Given the description of an element on the screen output the (x, y) to click on. 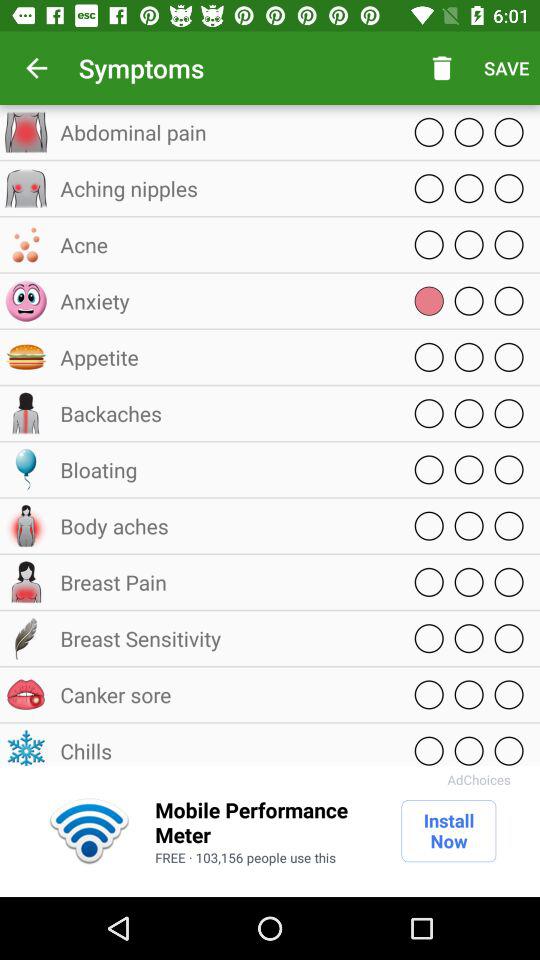
tap the icon to the right of mobile performance meter item (448, 831)
